Given the description of an element on the screen output the (x, y) to click on. 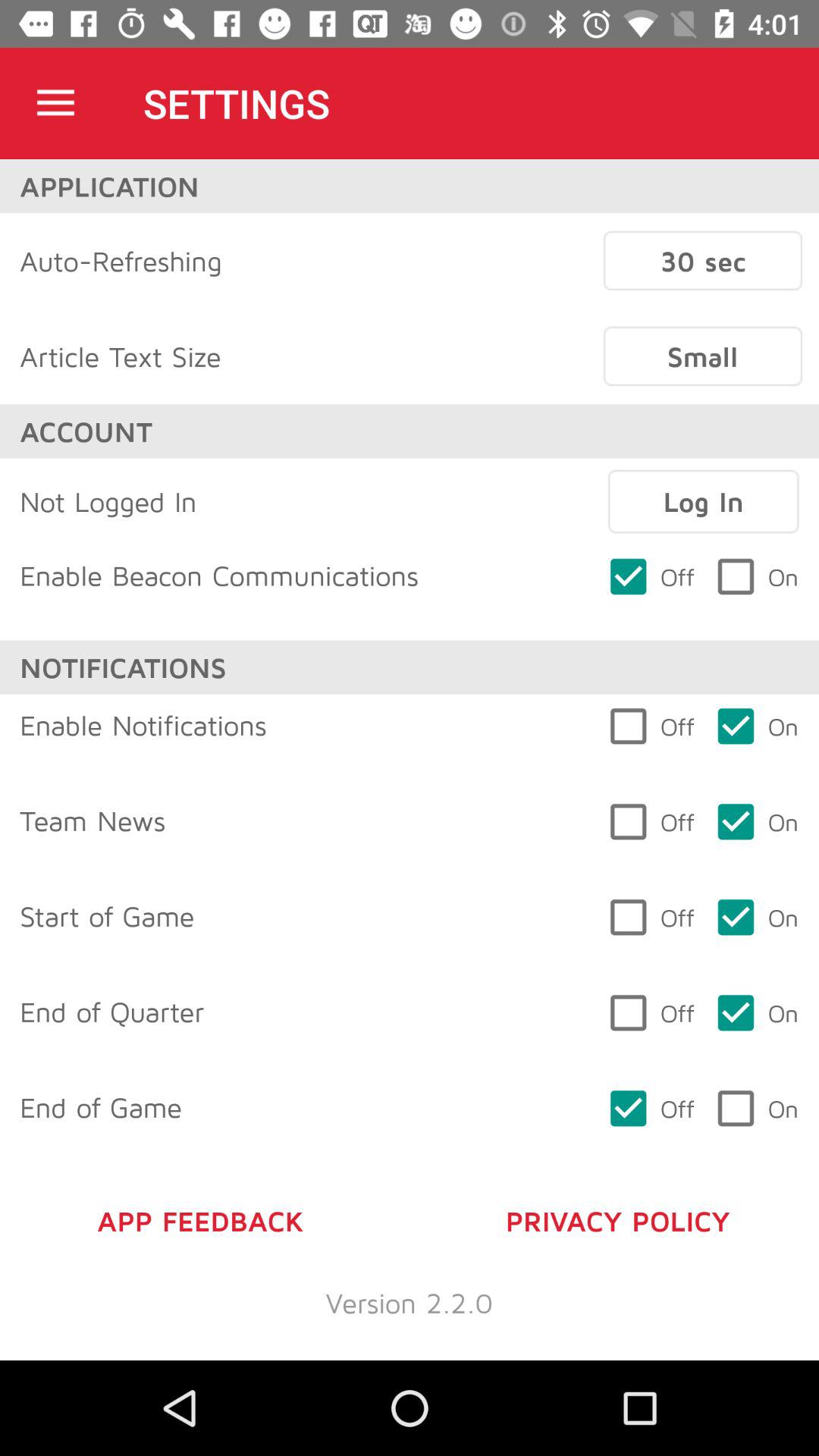
open icon to the left of the settings item (55, 103)
